Given the description of an element on the screen output the (x, y) to click on. 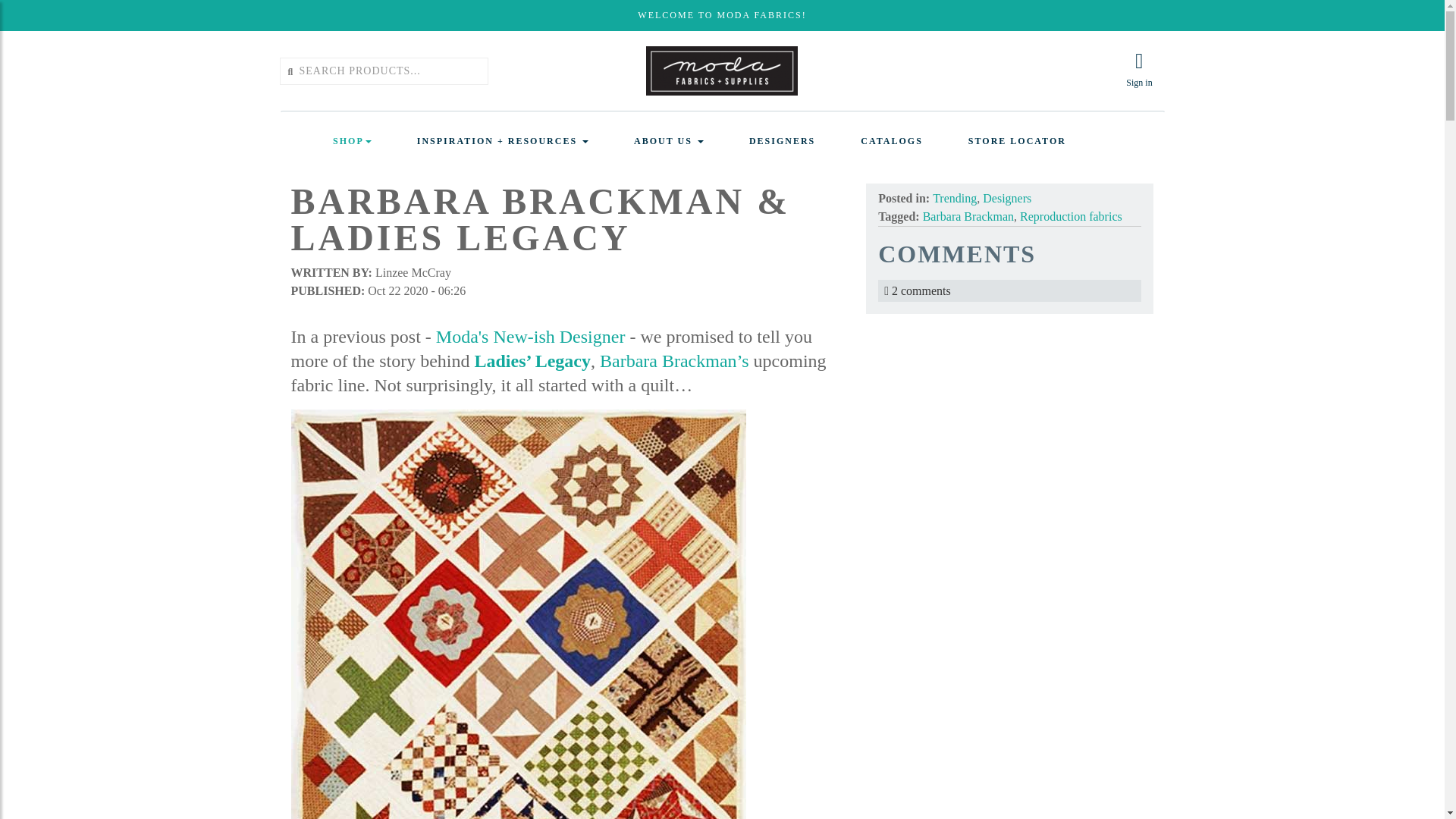
modafabrics.com (721, 70)
Sign in (1138, 69)
SHOP (352, 141)
modafabrics.com (721, 69)
